Given the description of an element on the screen output the (x, y) to click on. 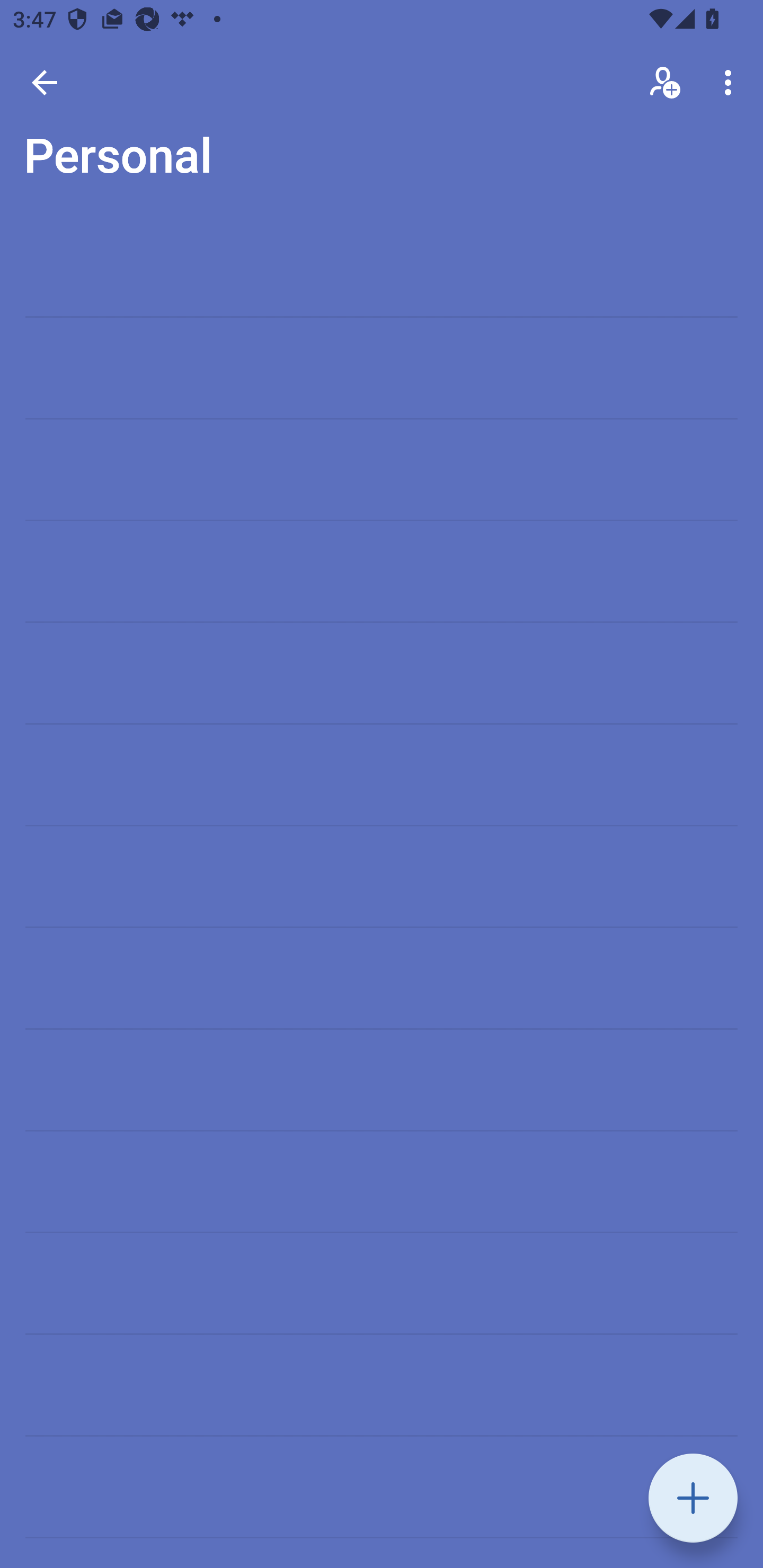
Add a task (692, 1497)
